Given the description of an element on the screen output the (x, y) to click on. 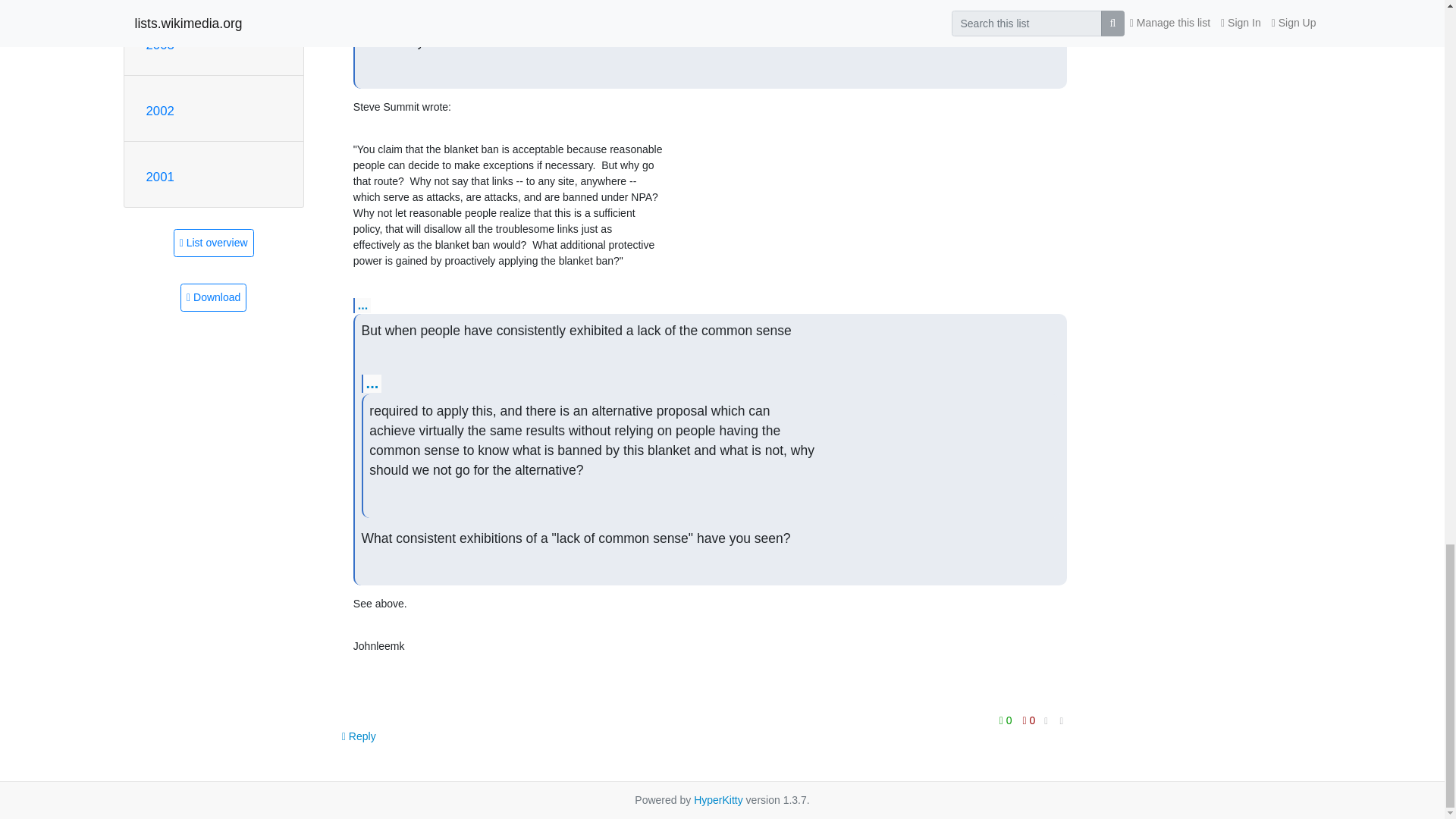
Sign in to reply online (359, 736)
Permalink for this message (1061, 720)
You must be logged-in to vote. (1007, 720)
You must be logged-in to vote. (1029, 720)
Display in fixed font (1046, 721)
This message in gzipped mbox format (213, 297)
